Given the description of an element on the screen output the (x, y) to click on. 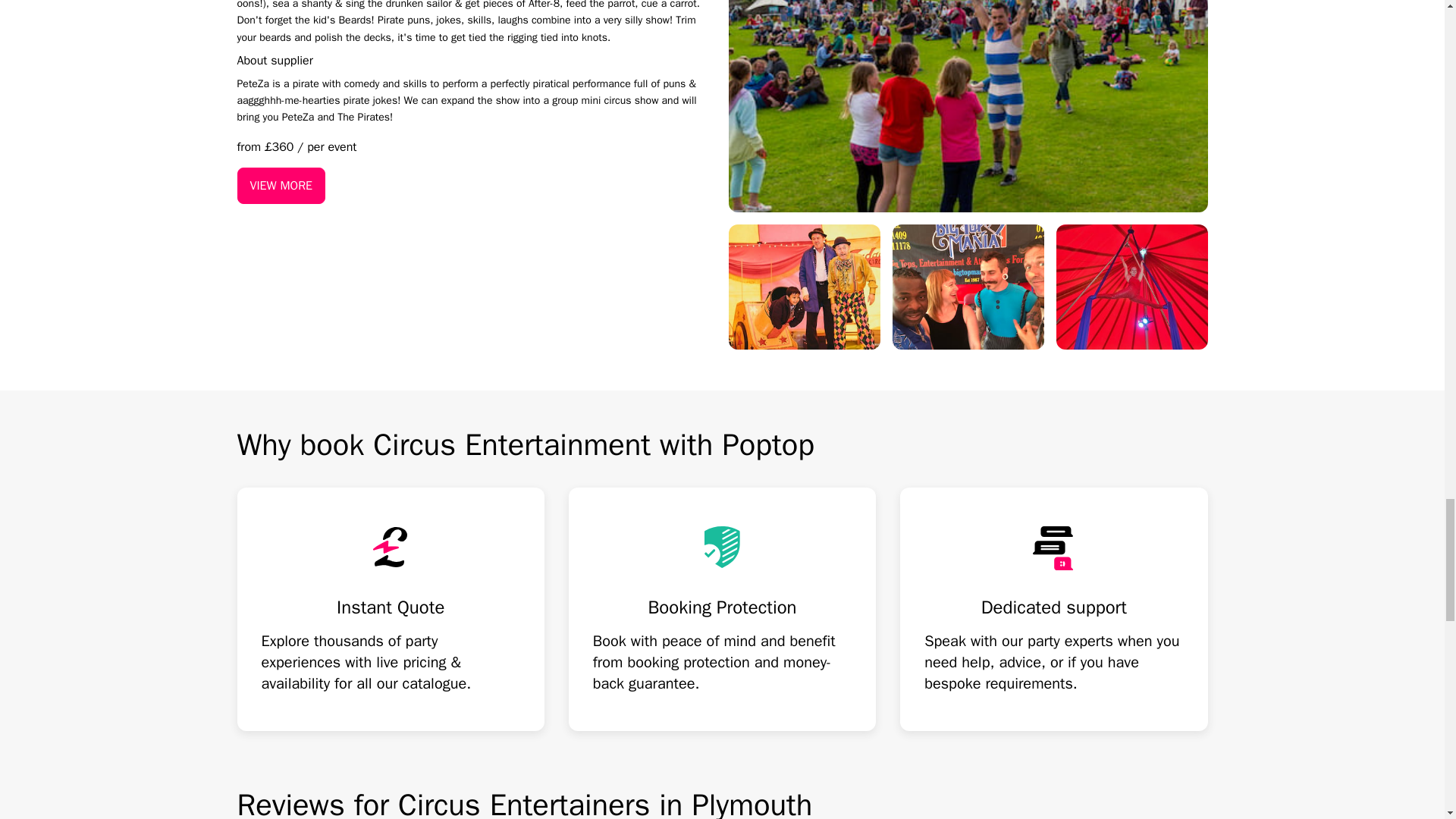
VIEW MORE (279, 185)
